Given the description of an element on the screen output the (x, y) to click on. 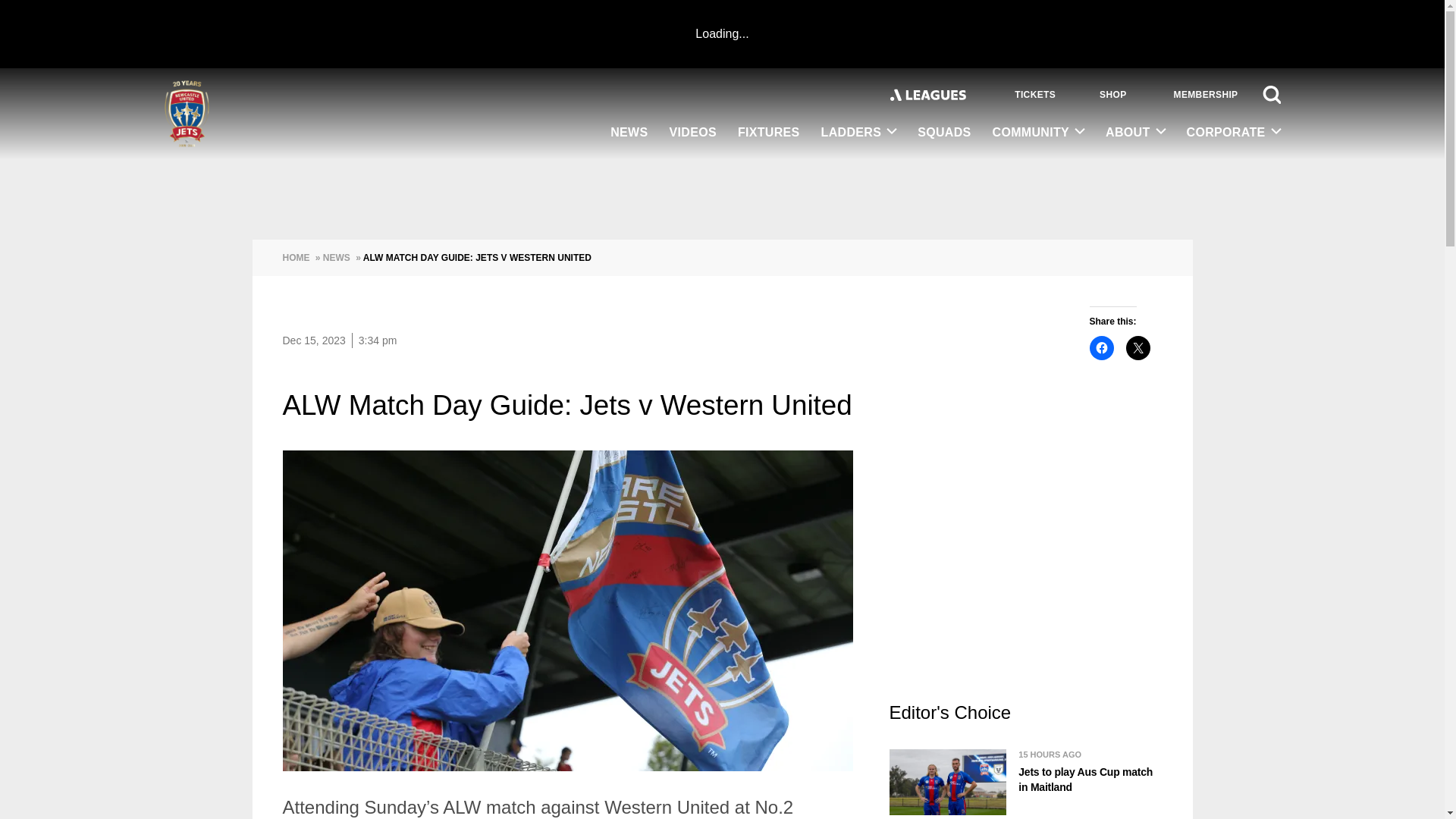
ABOUT (1134, 132)
NEWS (628, 133)
FIXTURES (768, 133)
COMMUNITY (1038, 132)
LADDERS (858, 132)
VIDEOS (692, 133)
CORPORATE (1228, 132)
Click to share on Facebook (1101, 347)
Click to share on X (1137, 347)
SQUADS (944, 133)
